Given the description of an element on the screen output the (x, y) to click on. 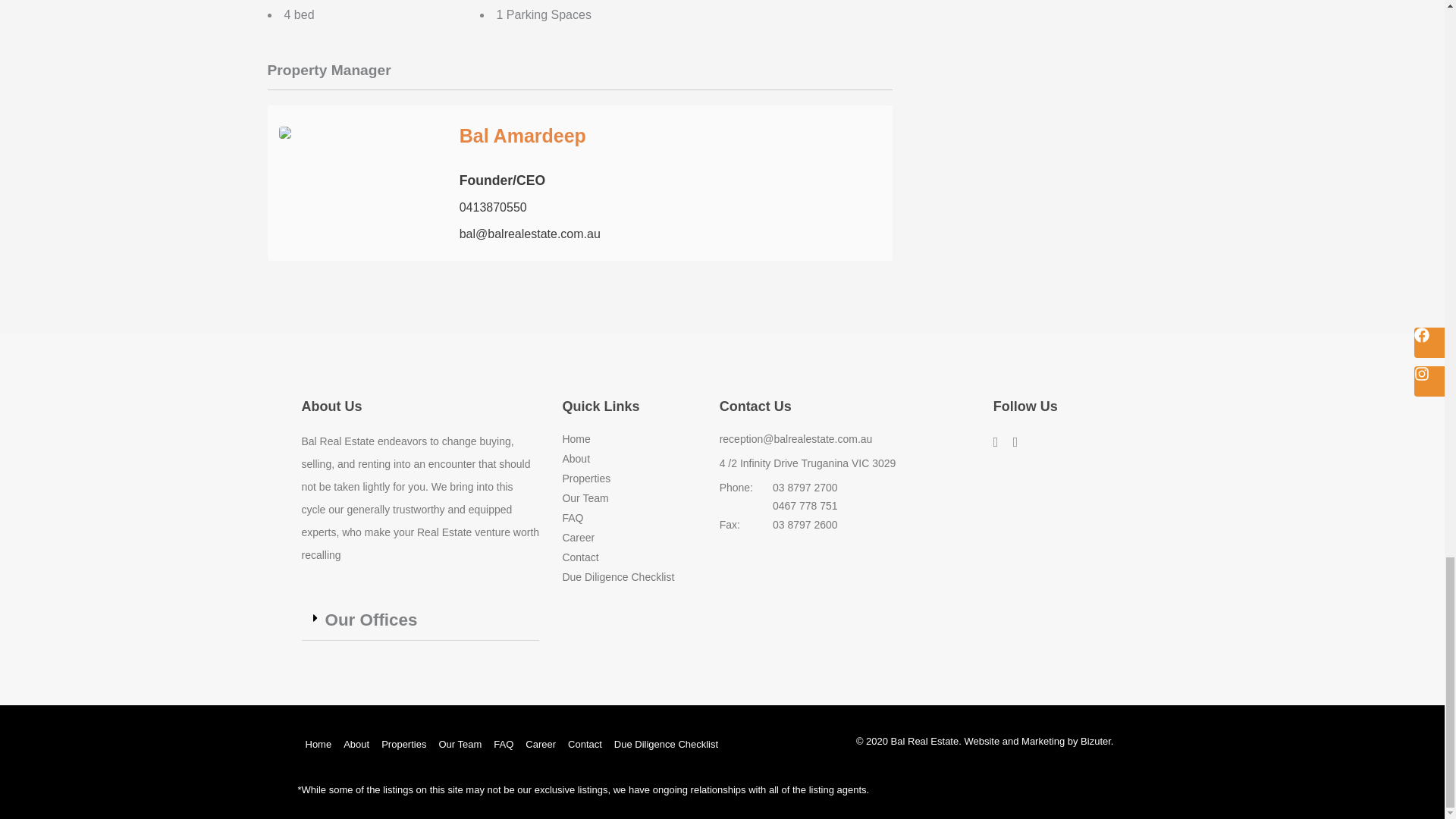
Home (628, 439)
About (628, 459)
0413870550 (493, 206)
Our Offices (370, 619)
Bal Amardeep (523, 135)
Properties (628, 478)
